Given the description of an element on the screen output the (x, y) to click on. 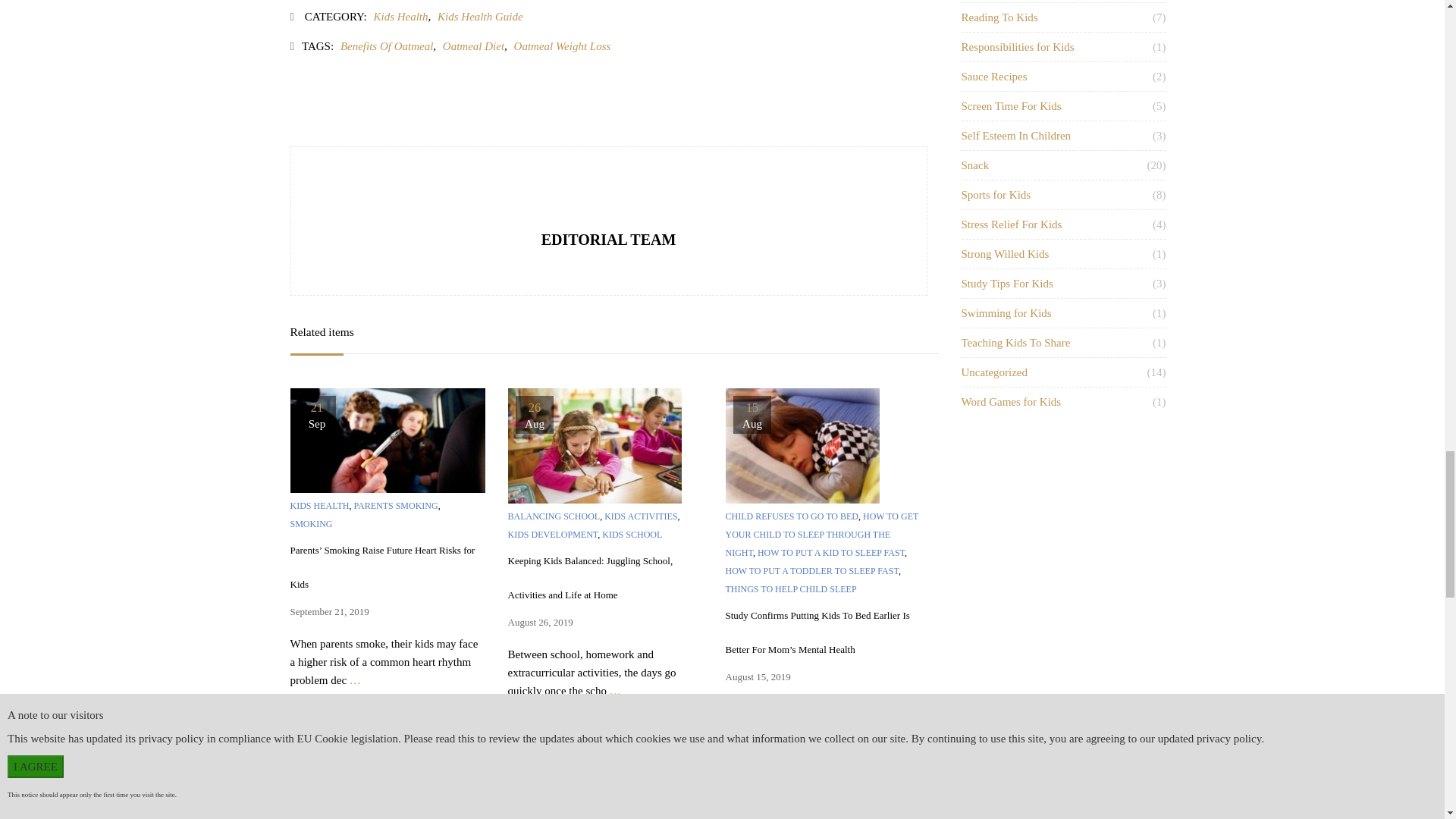
September (315, 424)
August (315, 810)
August (534, 424)
August (751, 424)
